Given the description of an element on the screen output the (x, y) to click on. 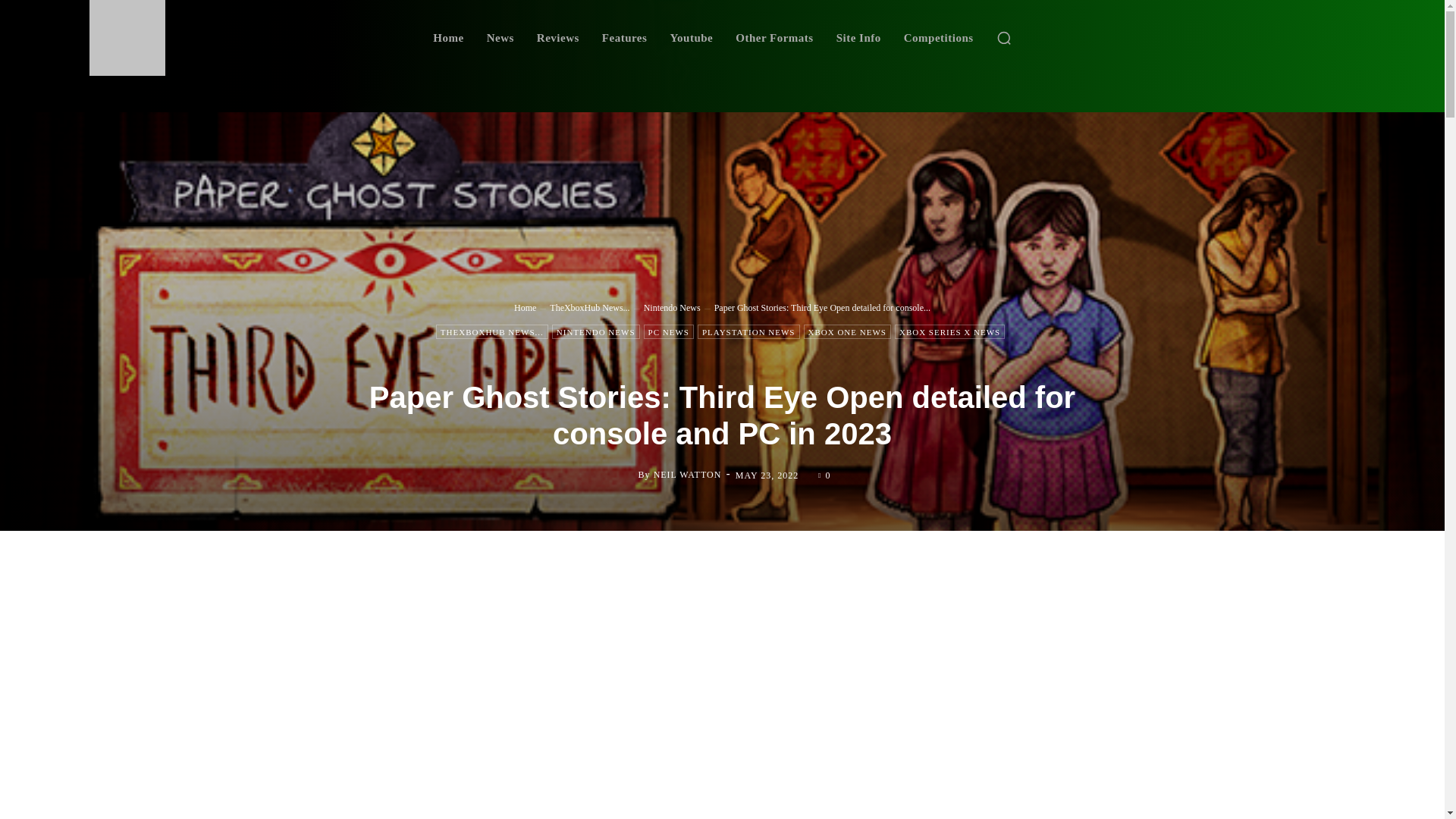
Neil Watton (626, 474)
View all posts in Nintendo News (671, 307)
View all posts in TheXboxHub News... (589, 307)
